Given the description of an element on the screen output the (x, y) to click on. 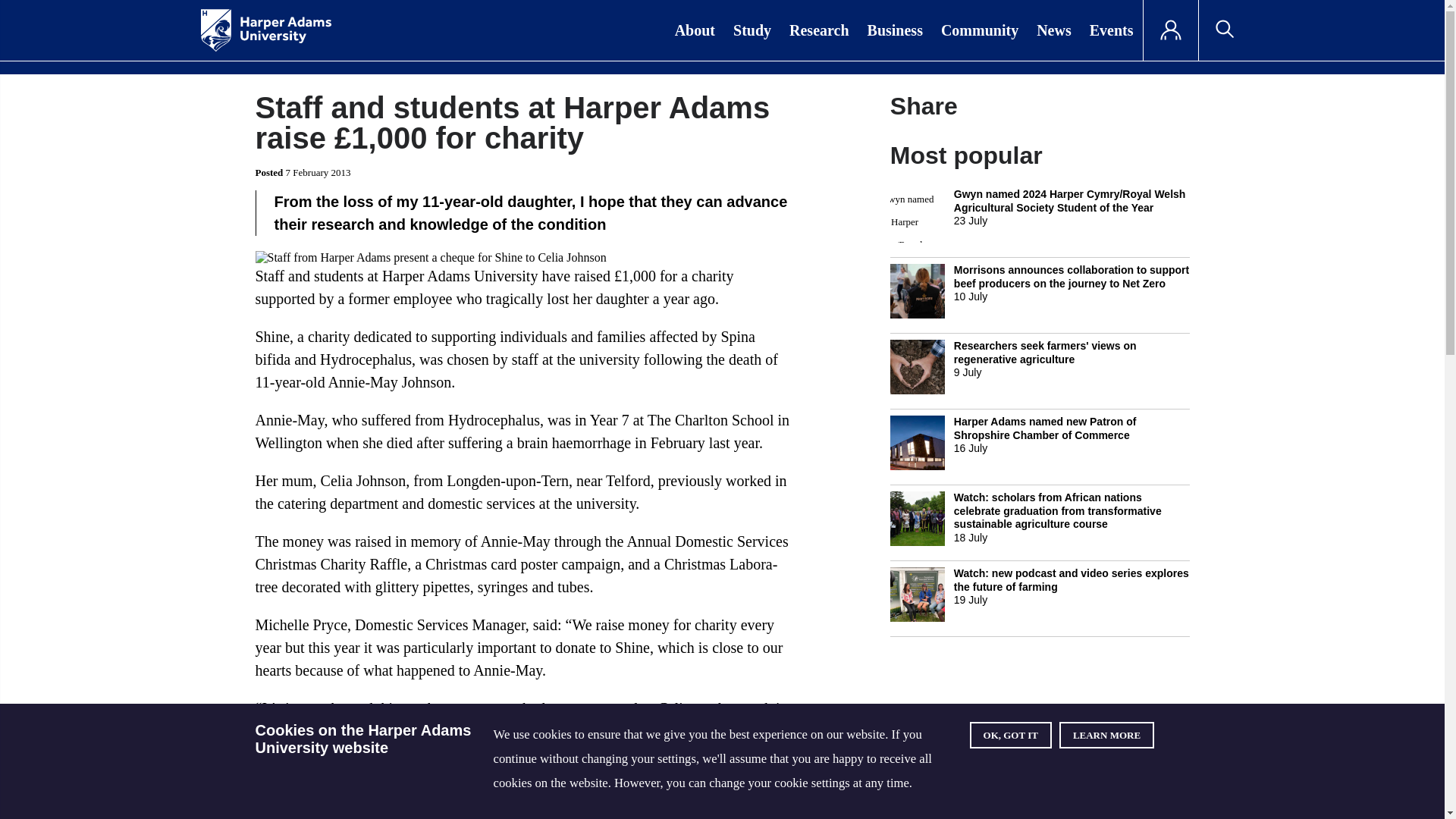
Study (751, 30)
Community (979, 30)
Events (1111, 30)
About (694, 30)
Business (895, 30)
Research (819, 30)
News (1053, 30)
